Given the description of an element on the screen output the (x, y) to click on. 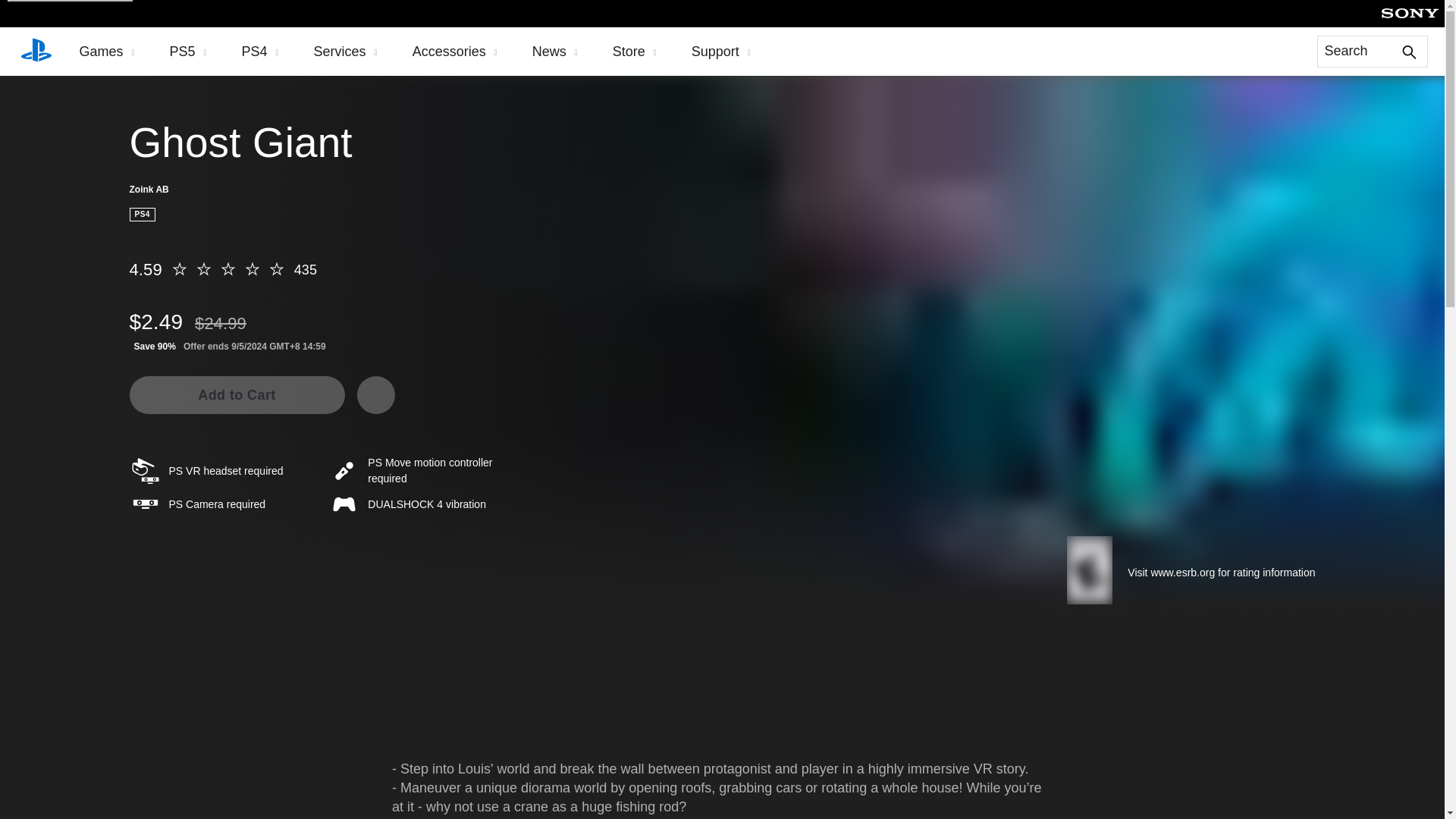
PS4 (260, 51)
Services (345, 51)
Accessories (454, 51)
Games (106, 51)
Skip to main content (69, 0)
PS5 (188, 51)
